Given the description of an element on the screen output the (x, y) to click on. 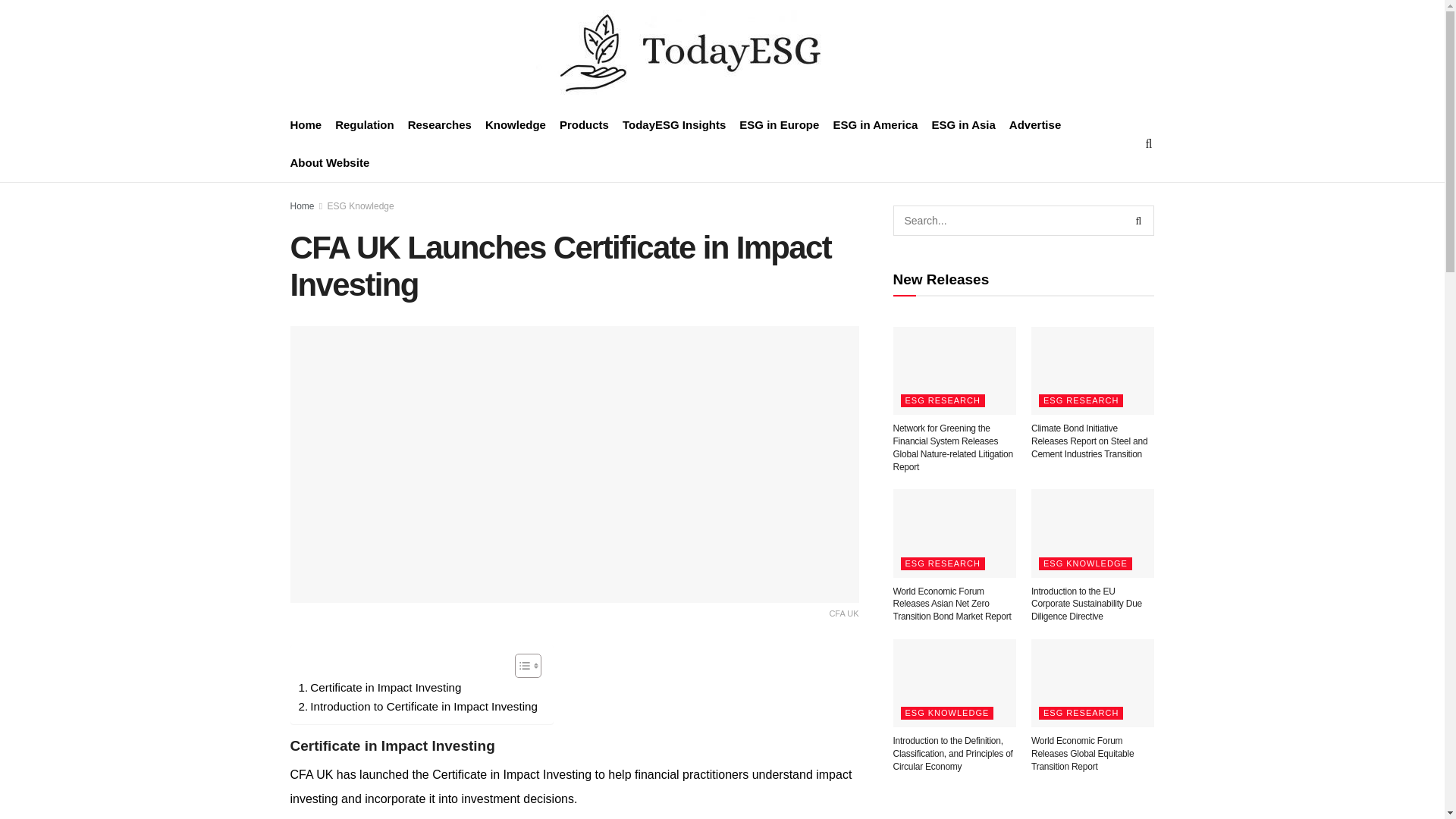
Products (583, 125)
Knowledge (515, 125)
Researches (439, 125)
ESG in America (874, 125)
Regulation (364, 125)
ESG in Europe (778, 125)
Certificate in Impact Investing (379, 687)
Introduction to Certificate in Impact Investing (417, 706)
TodayESG Insights (674, 125)
